Given the description of an element on the screen output the (x, y) to click on. 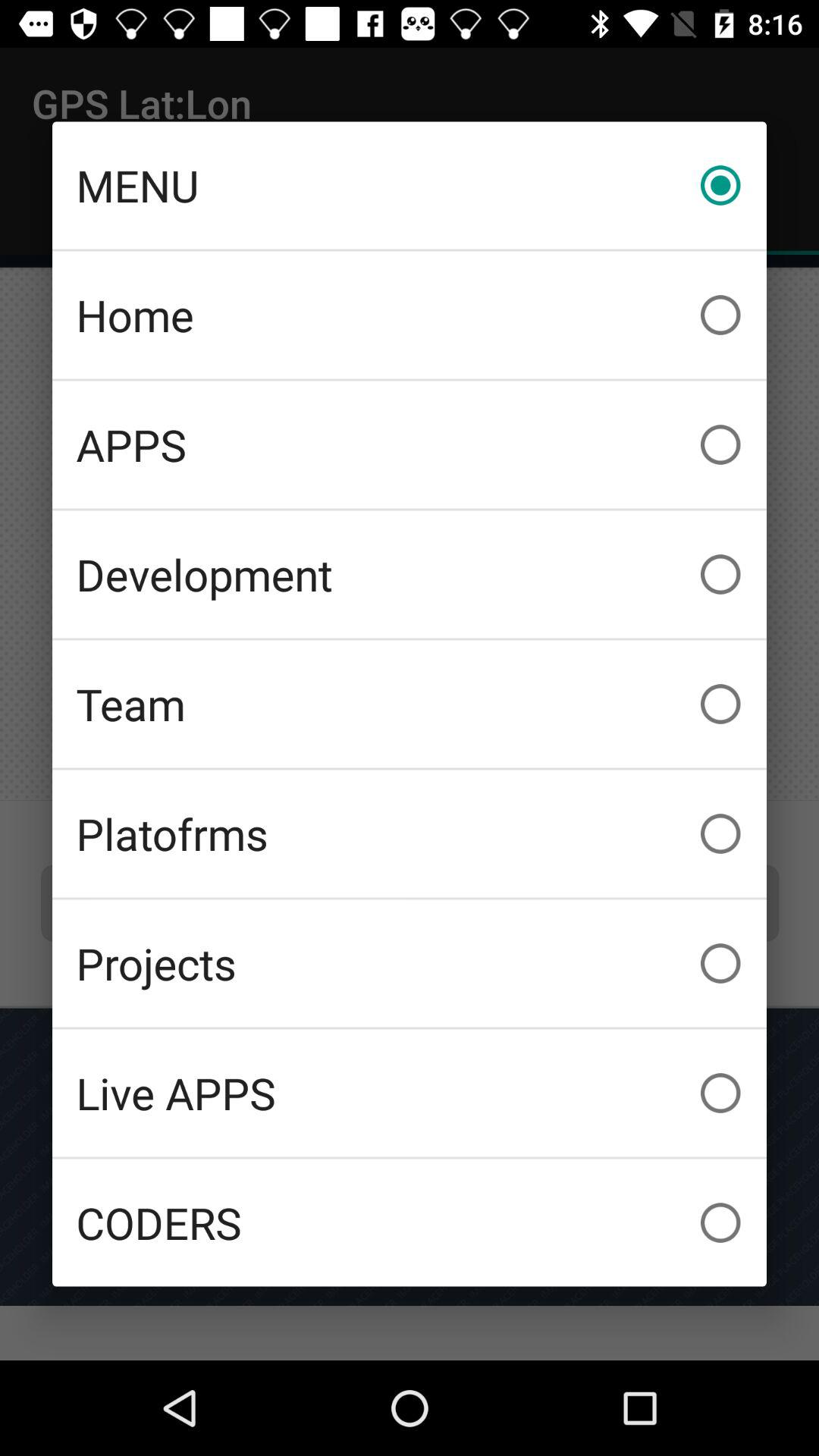
press the icon above live apps item (409, 963)
